Given the description of an element on the screen output the (x, y) to click on. 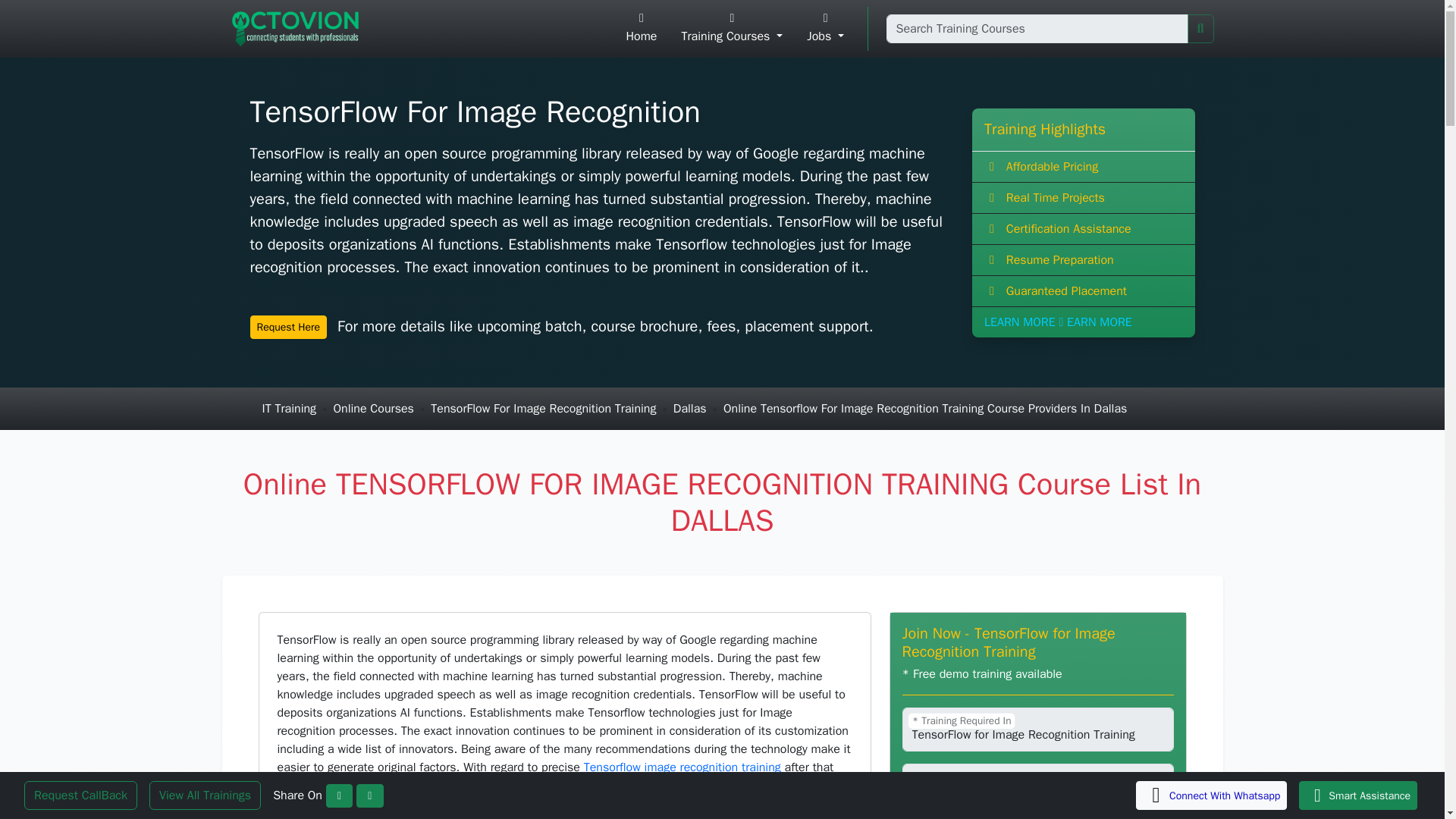
Online Courses (373, 408)
Training Courses (731, 28)
Dallas (689, 408)
TensorFlow For Image Recognition Training (543, 408)
Tensorflow image recognition training (681, 767)
Request Here (288, 327)
TensorFlow for Image Recognition Training (1037, 729)
Home (641, 28)
Jobs (825, 28)
Tensorflow image recognition training (681, 767)
IT Training (289, 408)
